Given the description of an element on the screen output the (x, y) to click on. 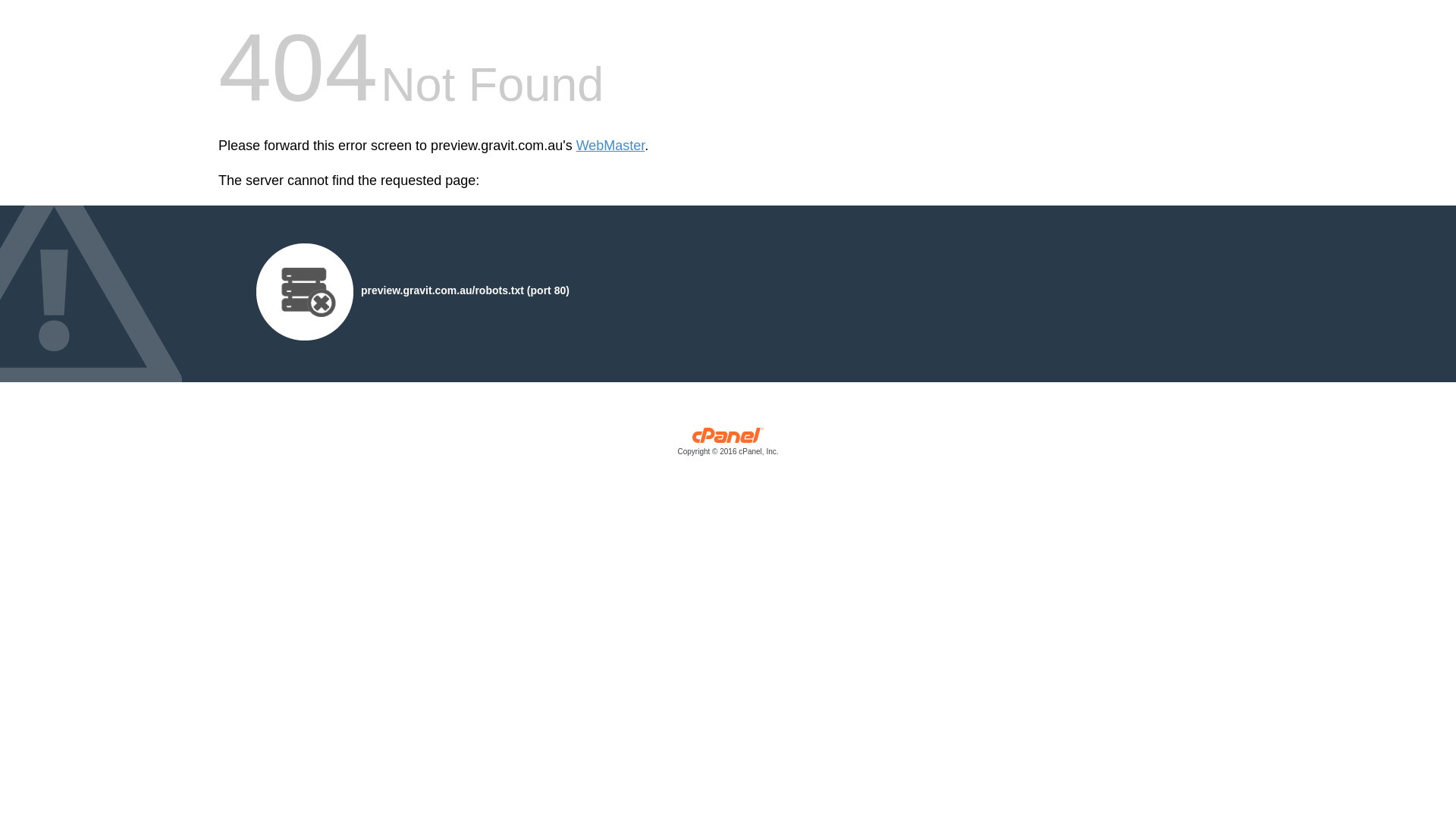
WebMaster Element type: text (610, 145)
